Given the description of an element on the screen output the (x, y) to click on. 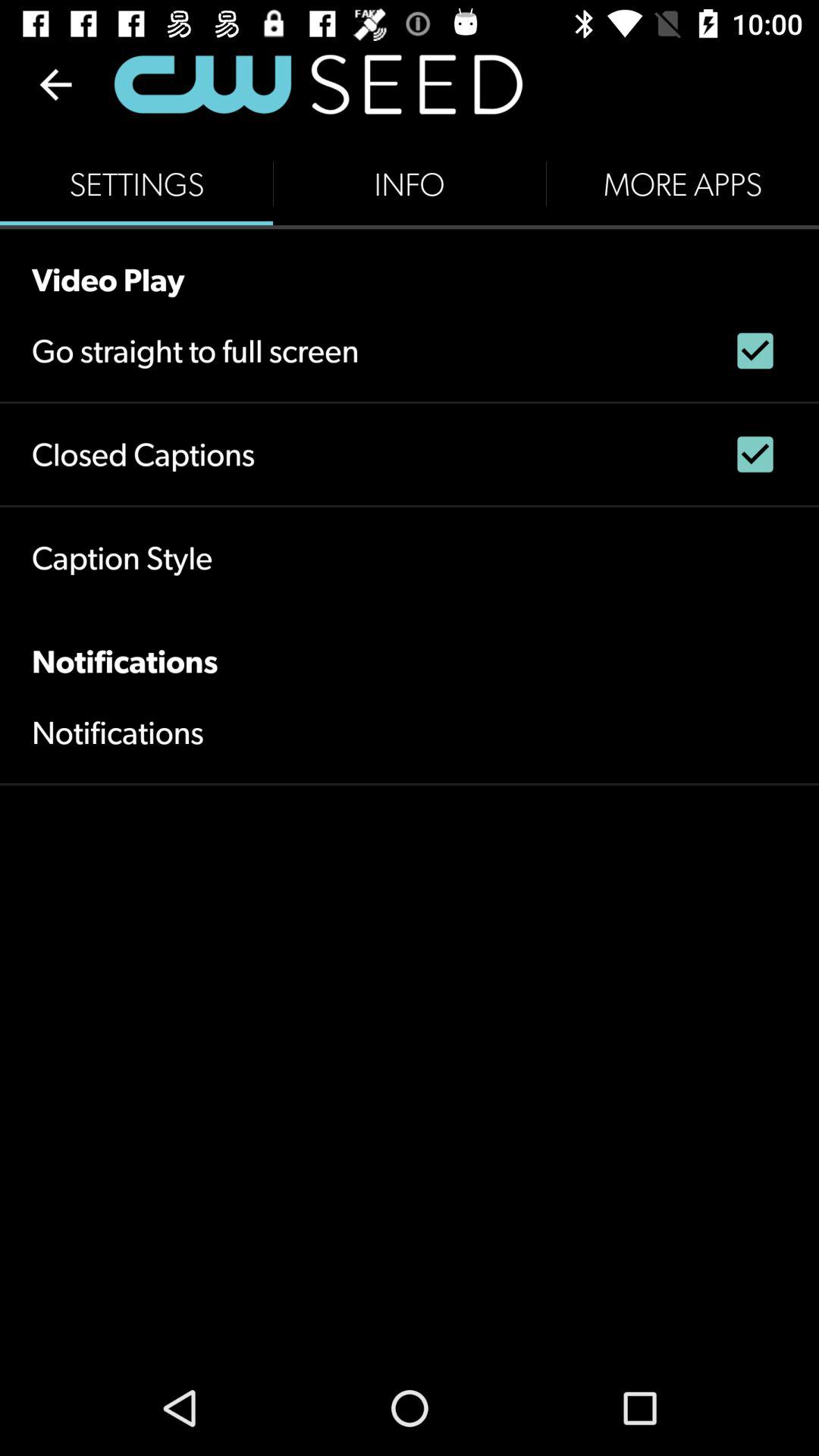
jump until go straight to item (194, 350)
